Given the description of an element on the screen output the (x, y) to click on. 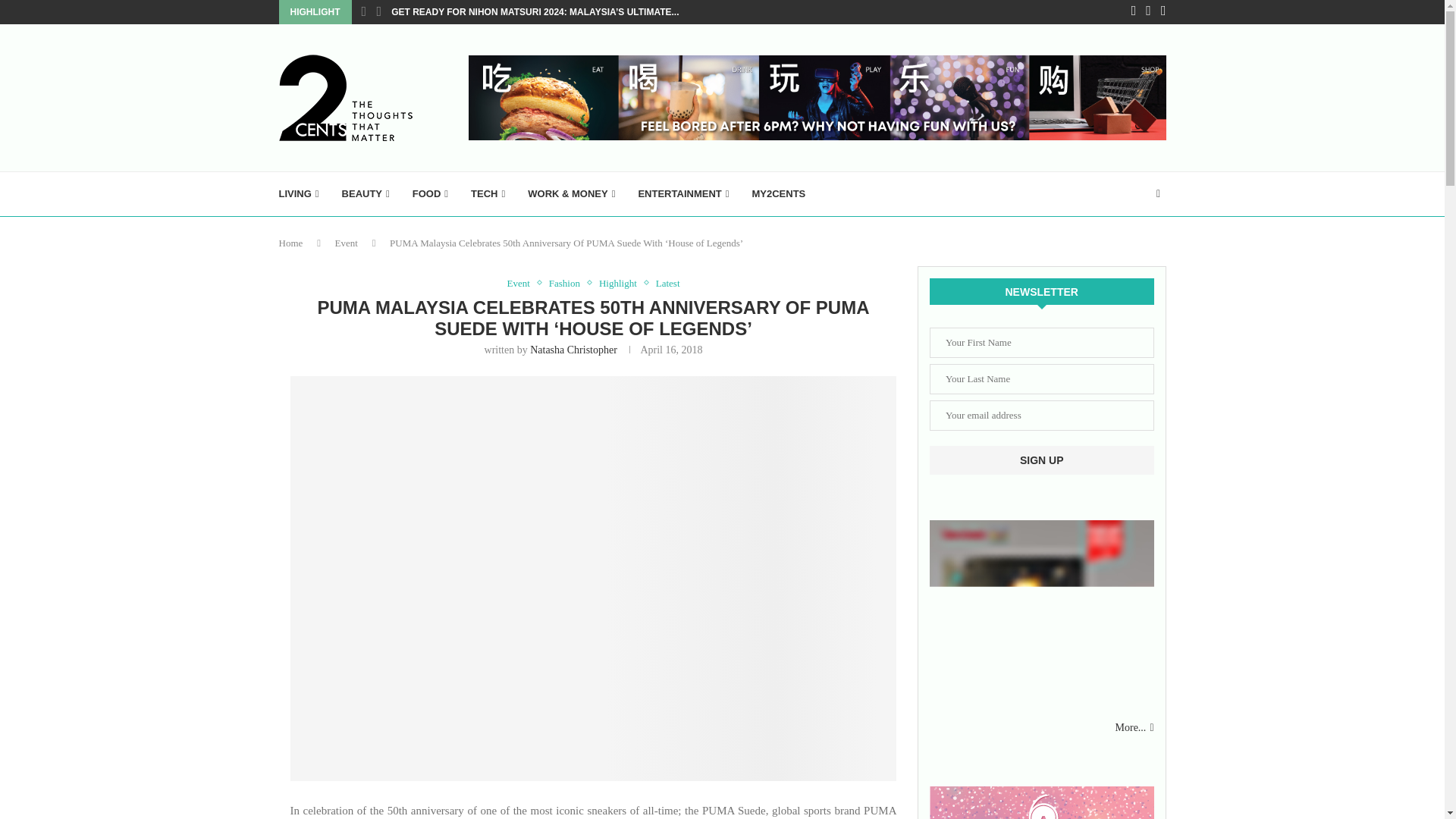
LIVING (298, 193)
Sign up (1042, 460)
